Given the description of an element on the screen output the (x, y) to click on. 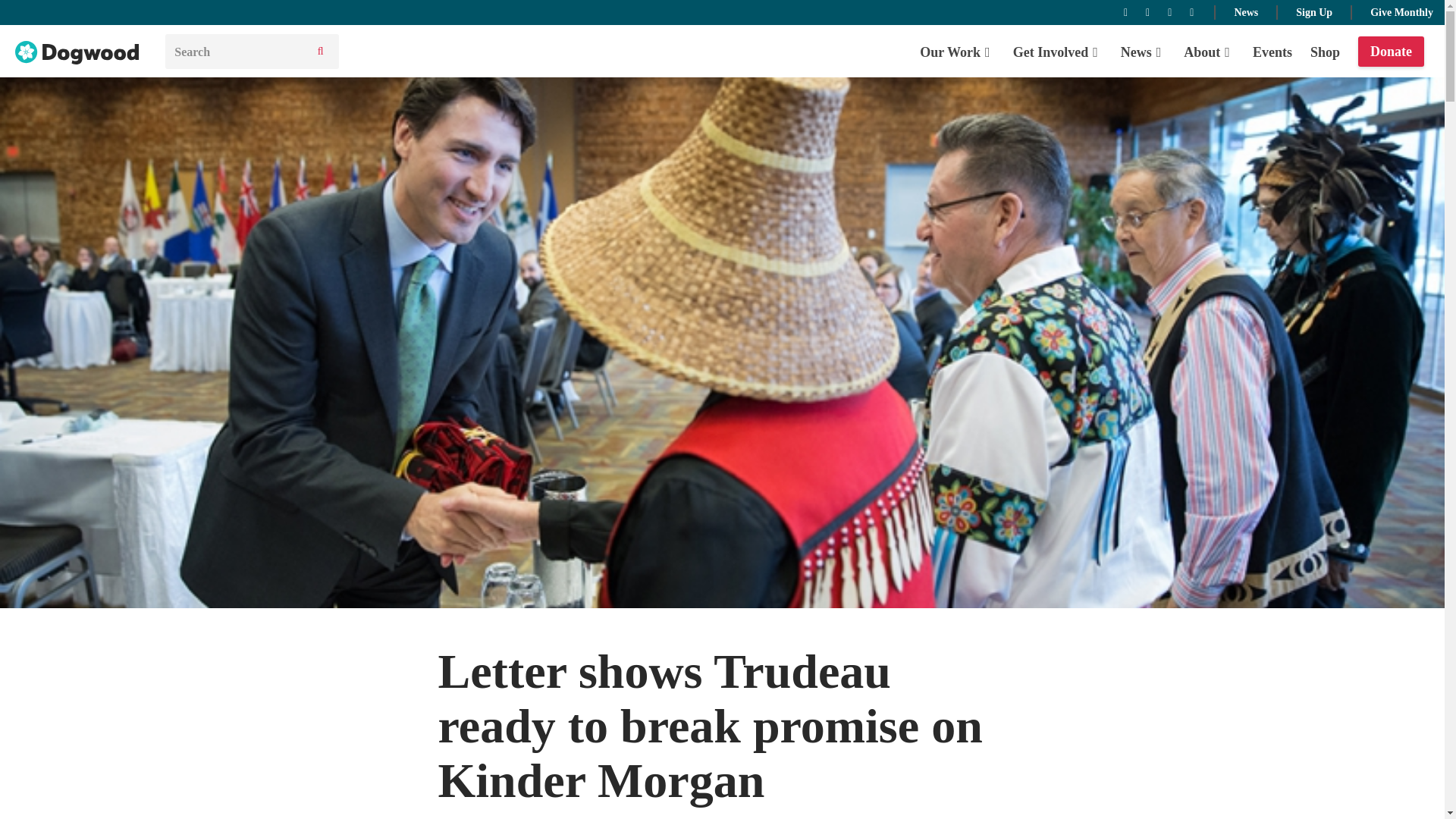
Our Work (957, 51)
Get Involved (1057, 51)
News (1143, 51)
Dogwood (76, 52)
Search for: (234, 51)
About (1208, 51)
Donate (1391, 51)
Sign Up (1313, 11)
News (1245, 11)
Events (1272, 51)
